Given the description of an element on the screen output the (x, y) to click on. 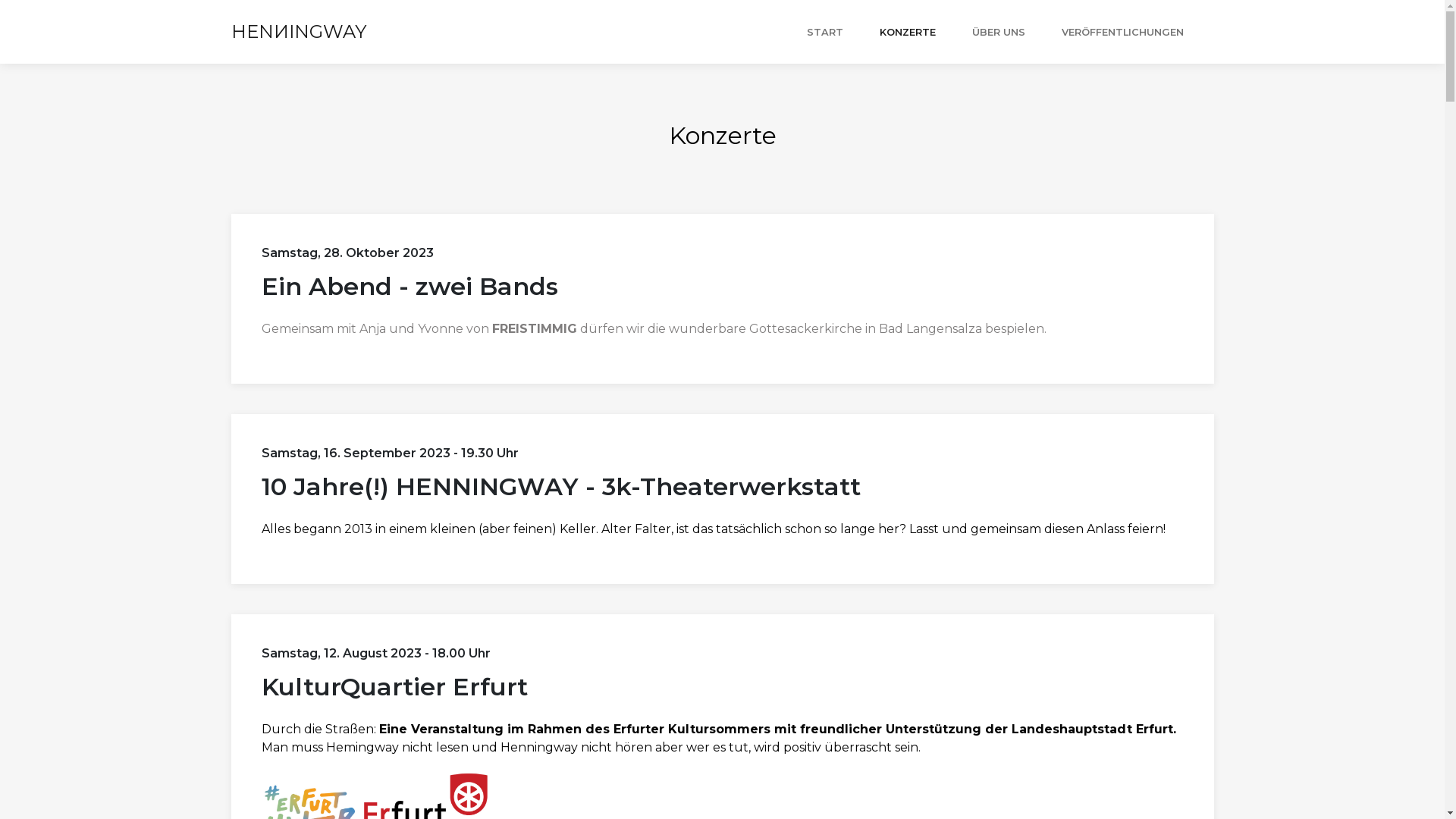
START Element type: text (824, 31)
KONZERTE Element type: text (907, 31)
